Given the description of an element on the screen output the (x, y) to click on. 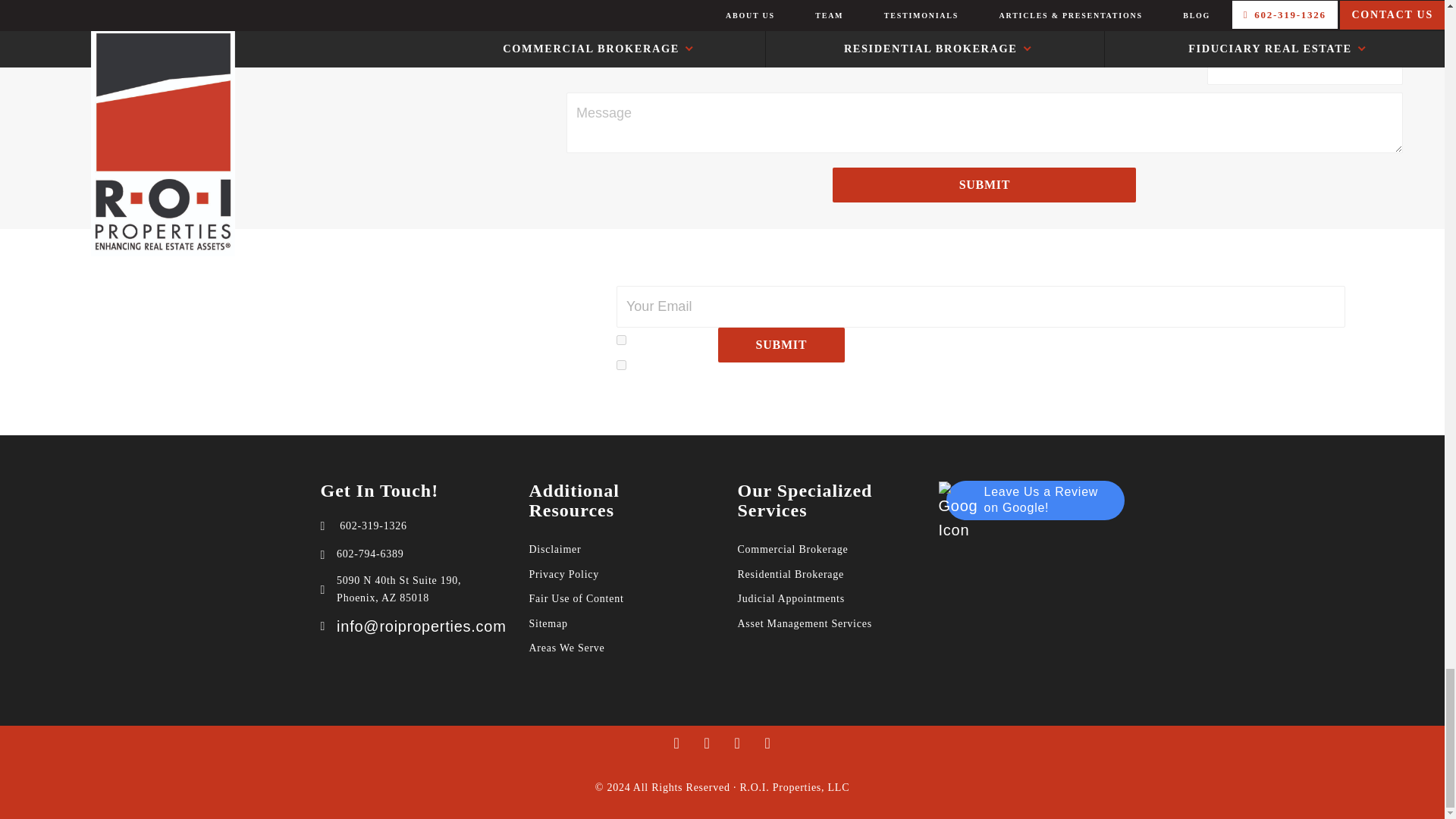
Residential (620, 365)
Commercial (620, 339)
Submit (780, 344)
Submit (983, 184)
